Given the description of an element on the screen output the (x, y) to click on. 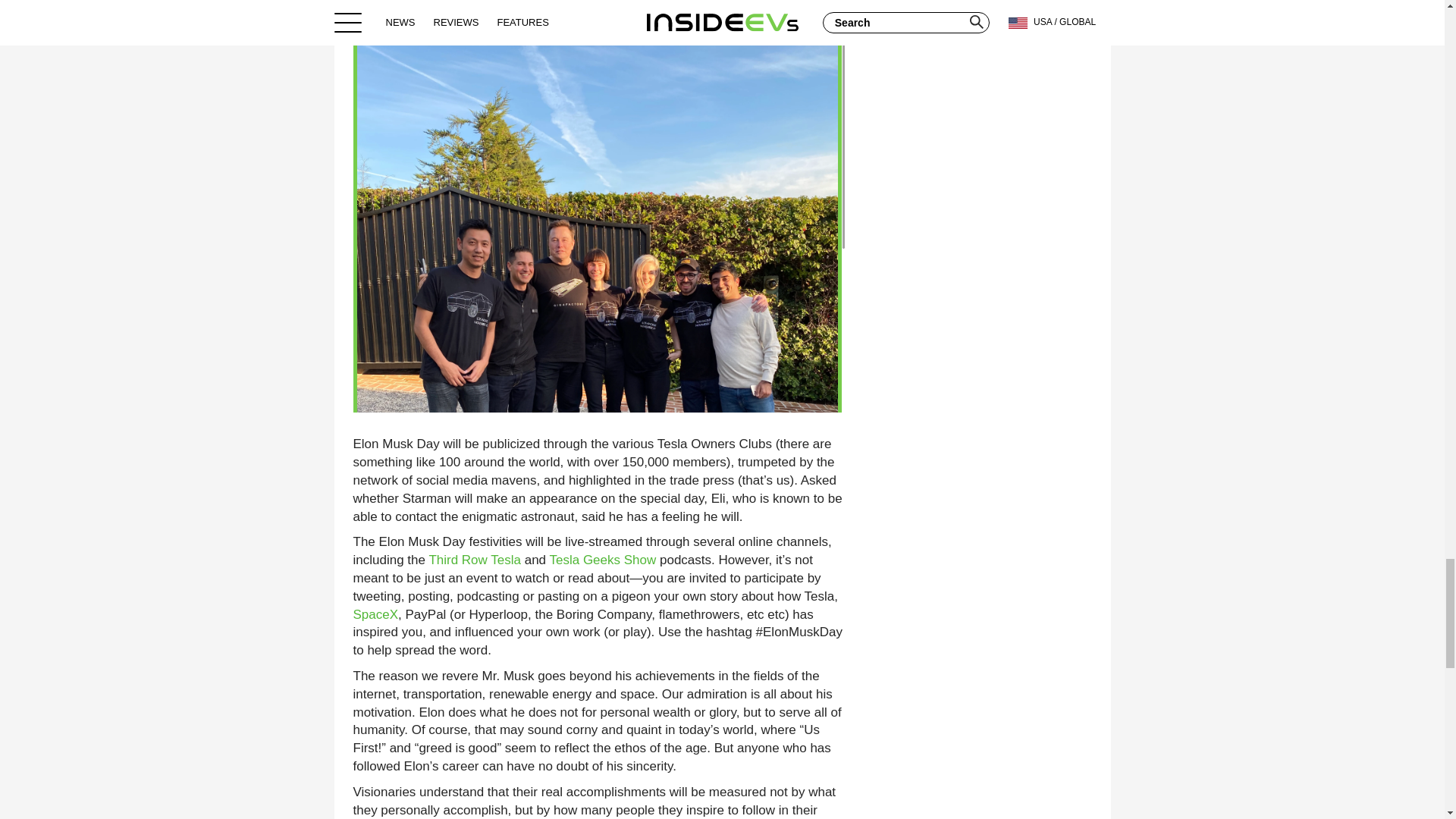
Tesla Geeks Show (602, 559)
SpaceX (375, 614)
Third Row Tesla (474, 559)
